Given the description of an element on the screen output the (x, y) to click on. 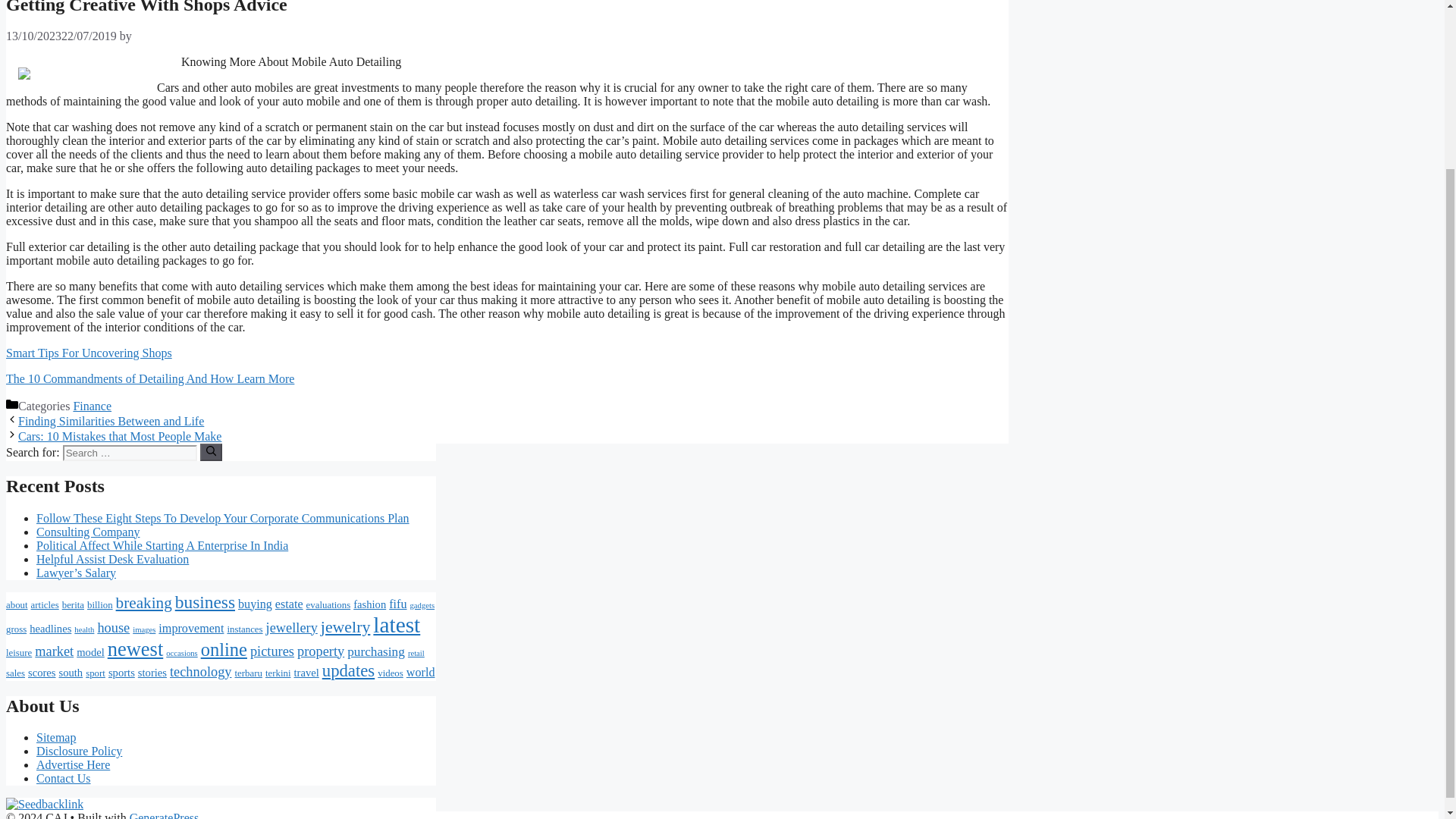
breaking (143, 602)
Search for: (129, 453)
gross (15, 629)
Smart Tips For Uncovering Shops (88, 352)
buying (255, 603)
headlines (50, 628)
Helpful Assist Desk Evaluation (112, 558)
images (143, 629)
Cars: 10 Mistakes that Most People Make (119, 436)
articles (44, 604)
billion (100, 604)
estate (288, 603)
berita (73, 604)
about (16, 604)
